Given the description of an element on the screen output the (x, y) to click on. 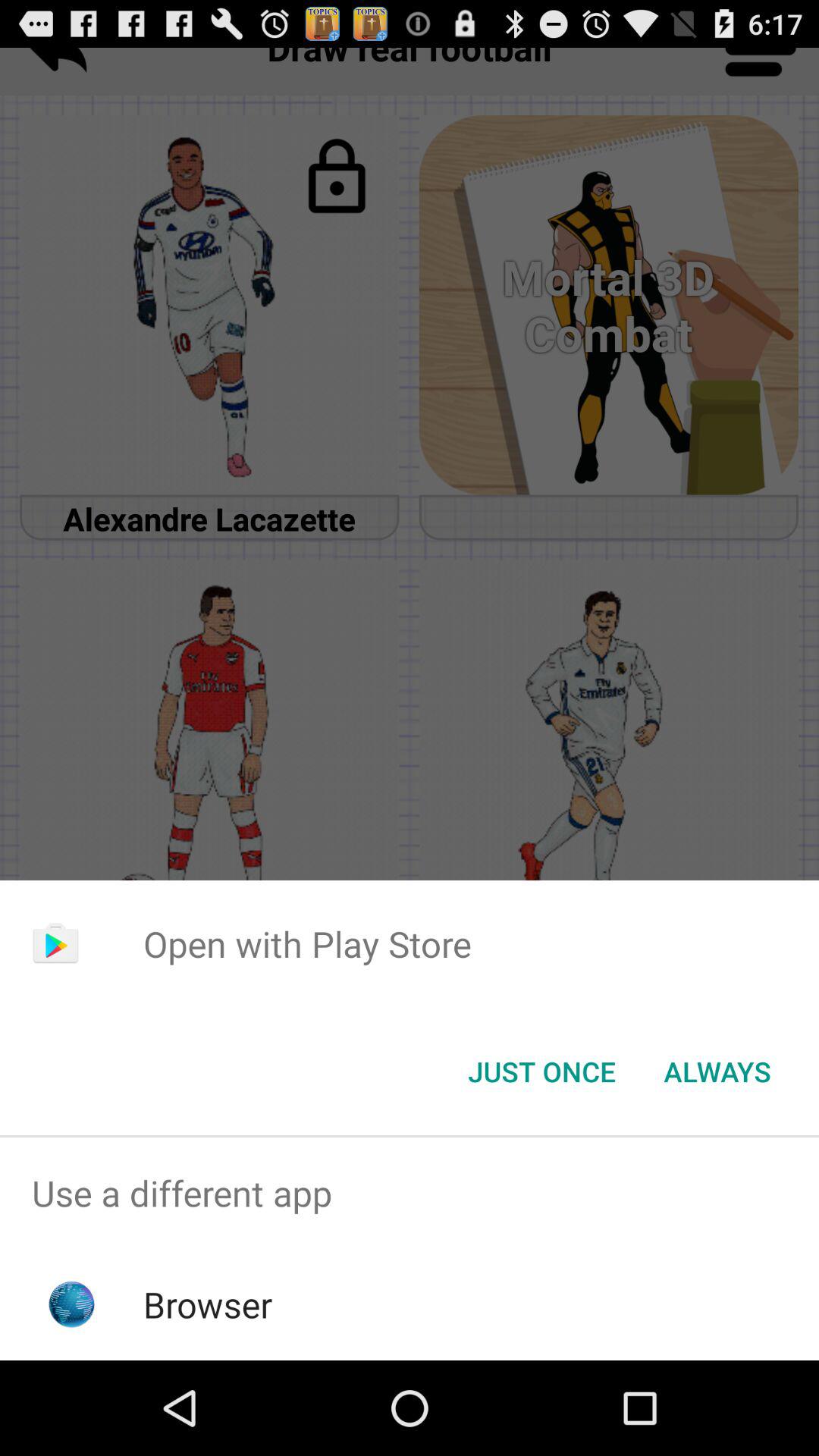
launch the item below the open with play app (717, 1071)
